Given the description of an element on the screen output the (x, y) to click on. 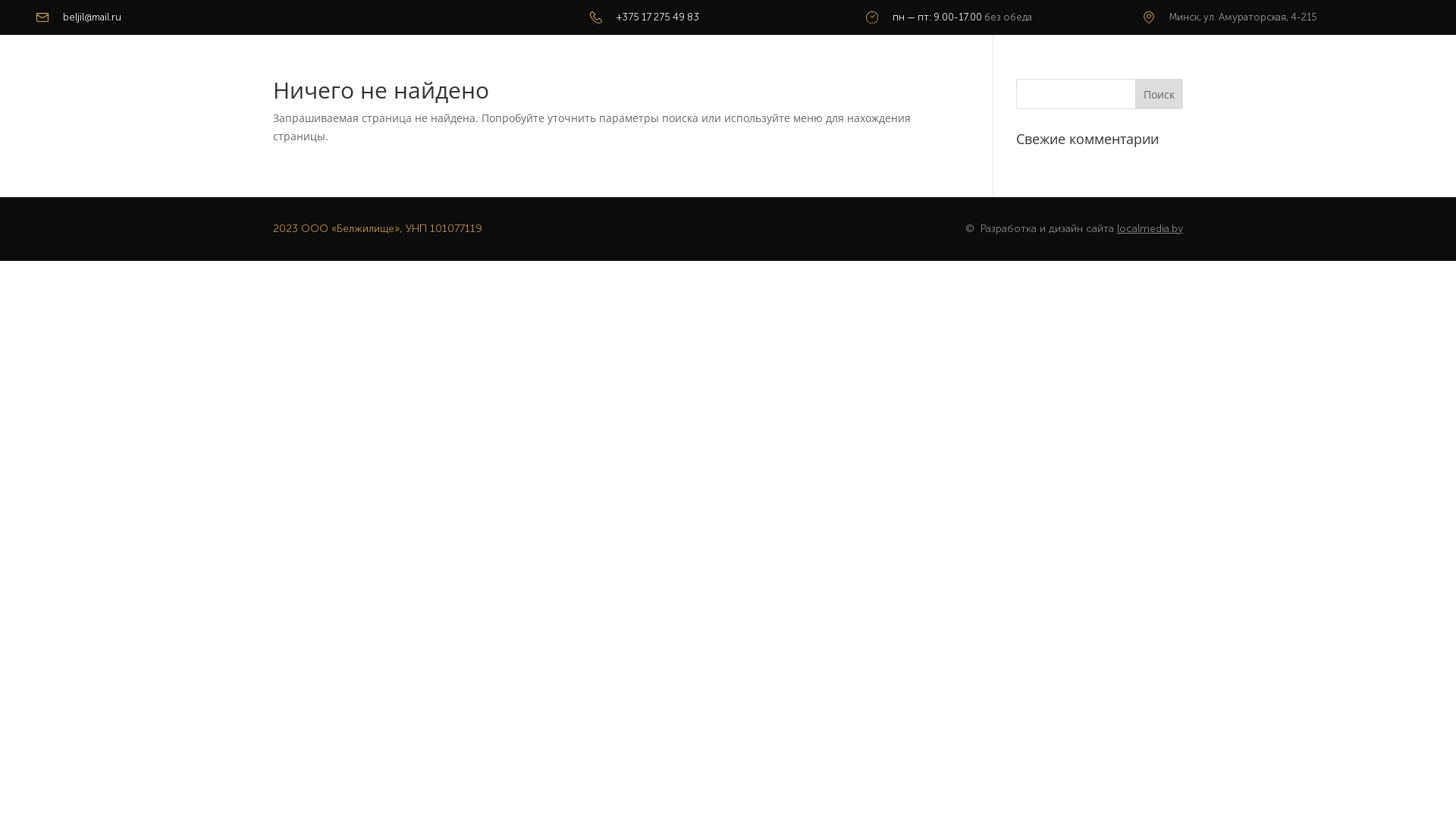
+375 17 275 49 83 Element type: text (657, 16)
beljil@mail.ru Element type: text (91, 16)
